Given the description of an element on the screen output the (x, y) to click on. 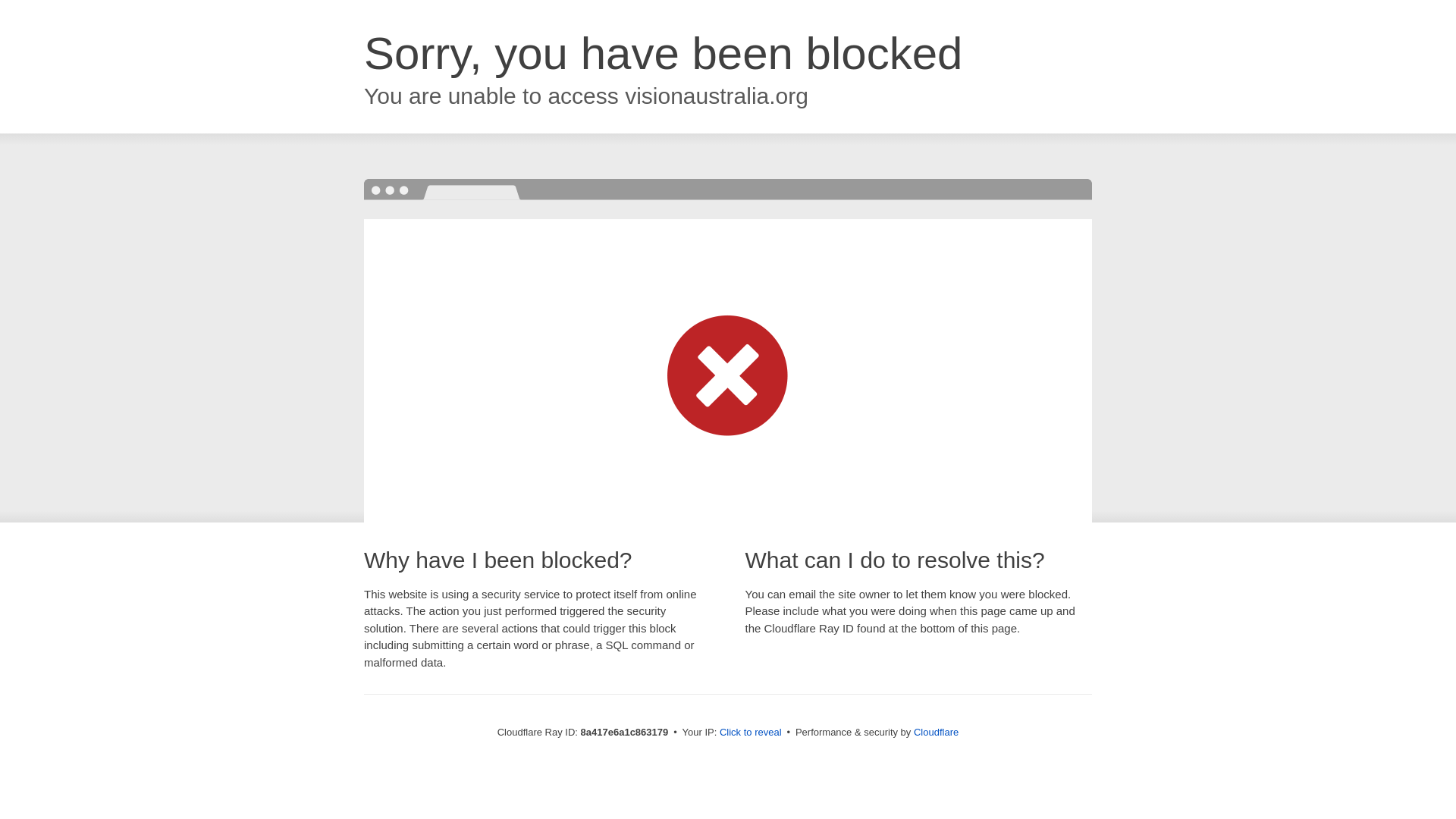
Cloudflare (936, 731)
Click to reveal (750, 732)
